Given the description of an element on the screen output the (x, y) to click on. 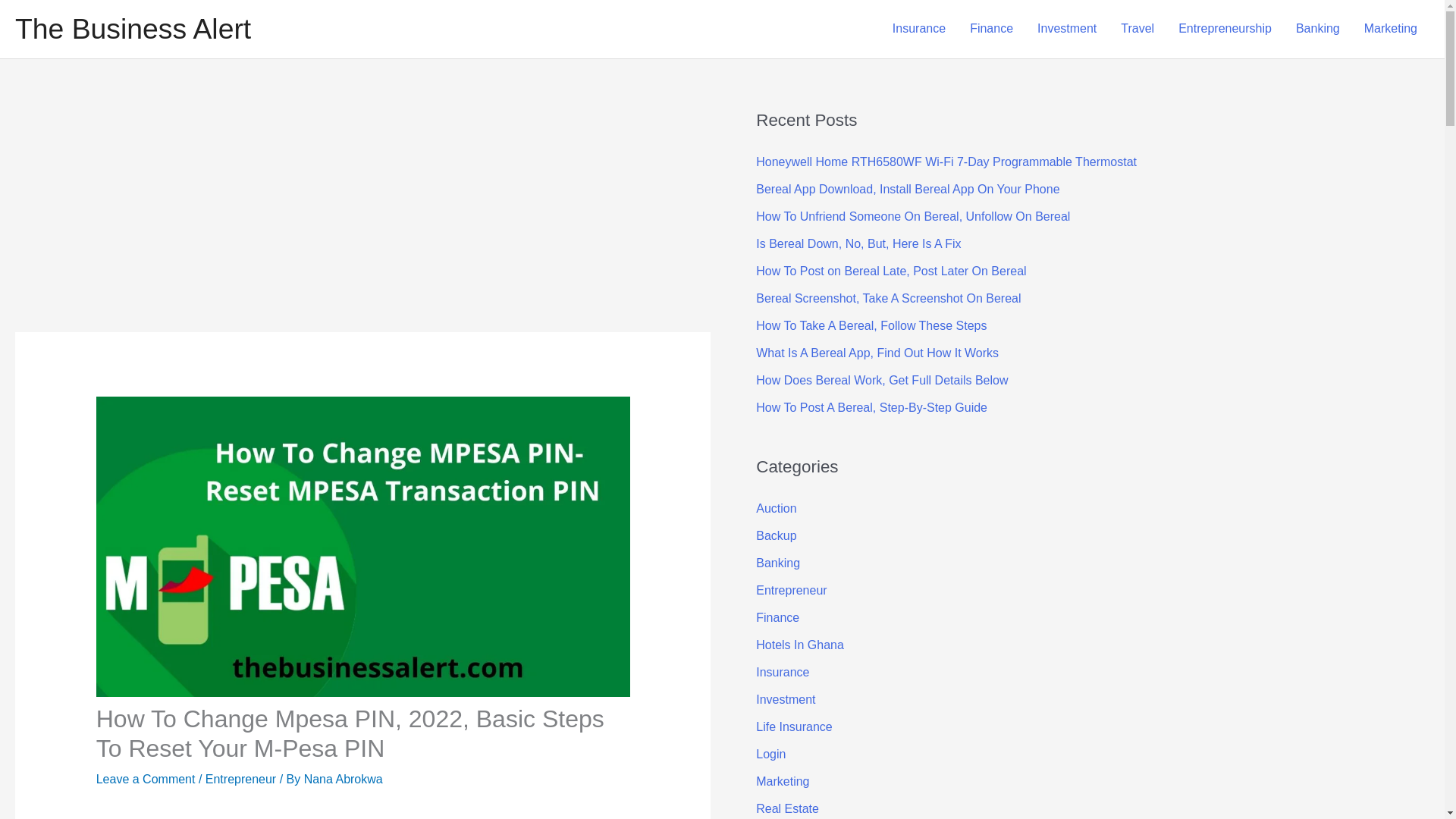
Investment (1066, 28)
Finance (991, 28)
View all posts by Nana Abrokwa (343, 779)
Travel (1137, 28)
Leave a Comment (145, 779)
Entrepreneur (240, 779)
Insurance (919, 28)
The Business Alert (132, 29)
Marketing (1390, 28)
Advertisement (338, 815)
Nana Abrokwa (343, 779)
Entrepreneurship (1225, 28)
Banking (1318, 28)
